Given the description of an element on the screen output the (x, y) to click on. 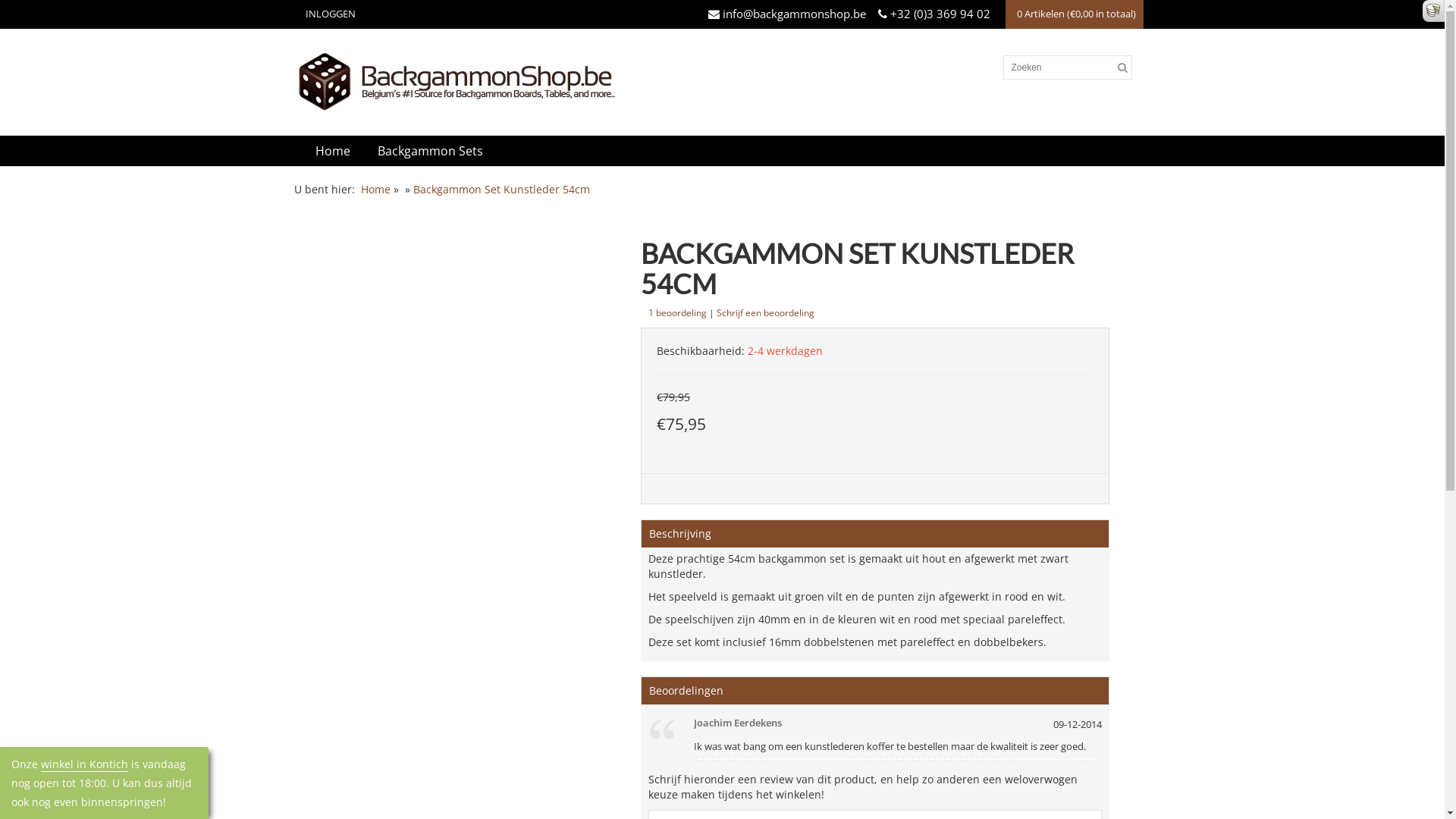
1 beoordeling Element type: text (677, 312)
Backgammon Sets Element type: text (430, 150)
Home Element type: text (332, 150)
Backgammon Set Kunstleder 54cm Element type: text (500, 190)
BackgammonShop.be Element type: text (638, 81)
Beoordelingen Element type: text (686, 690)
Beschrijving Element type: text (680, 533)
winkel in Kontich Element type: text (84, 763)
Schrijf een beoordeling Element type: text (765, 312)
INLOGGEN Element type: text (327, 14)
Home Element type: text (375, 190)
